Given the description of an element on the screen output the (x, y) to click on. 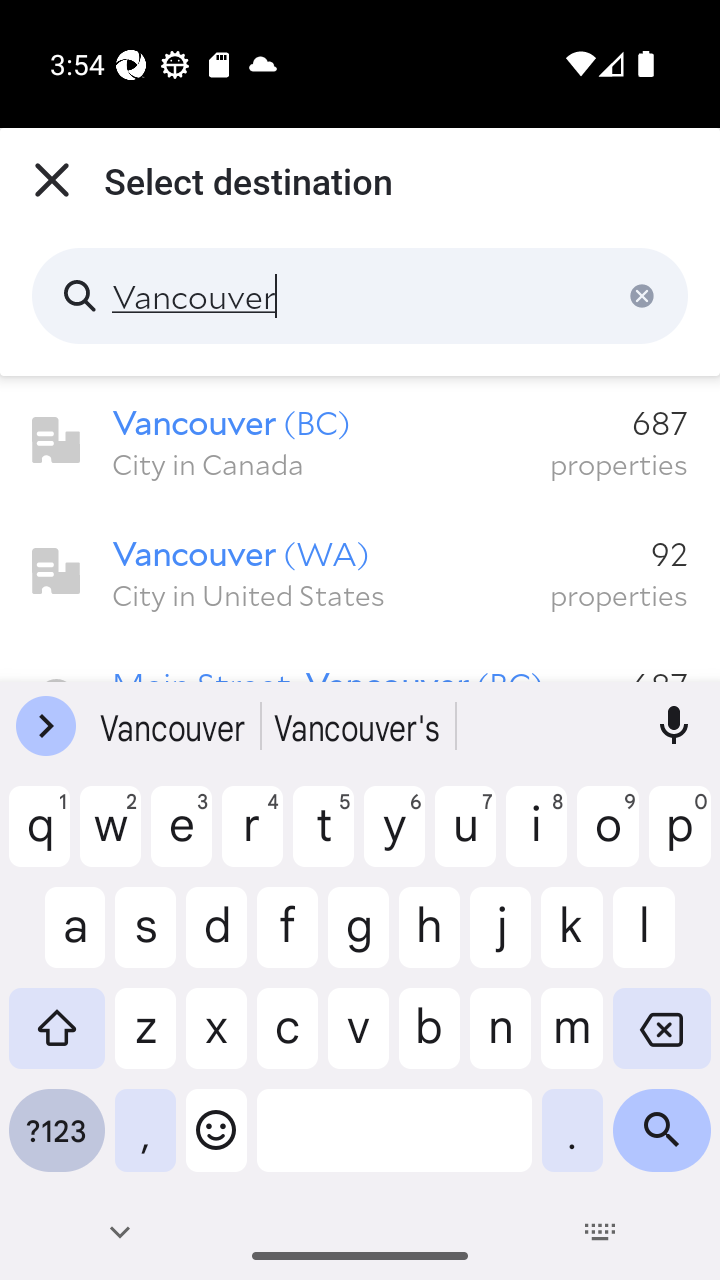
Vancouver (359, 296)
Vancouver (BC) 687 City in Canada properties (360, 441)
Vancouver (WA) 92 City in United States properties (360, 571)
